Given the description of an element on the screen output the (x, y) to click on. 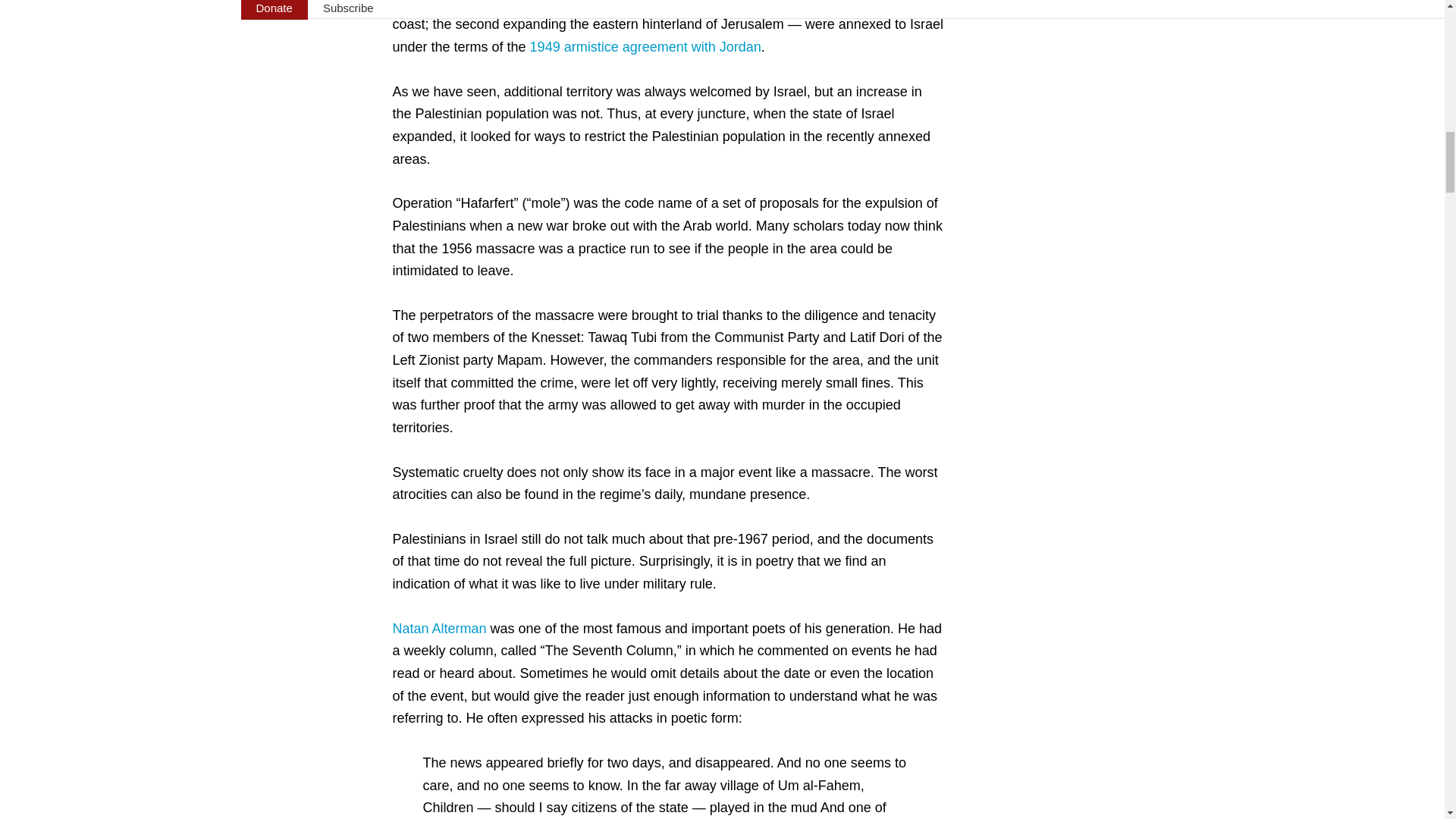
1949 armistice agreement with Jordan (645, 46)
Natan Alterman (439, 628)
